Given the description of an element on the screen output the (x, y) to click on. 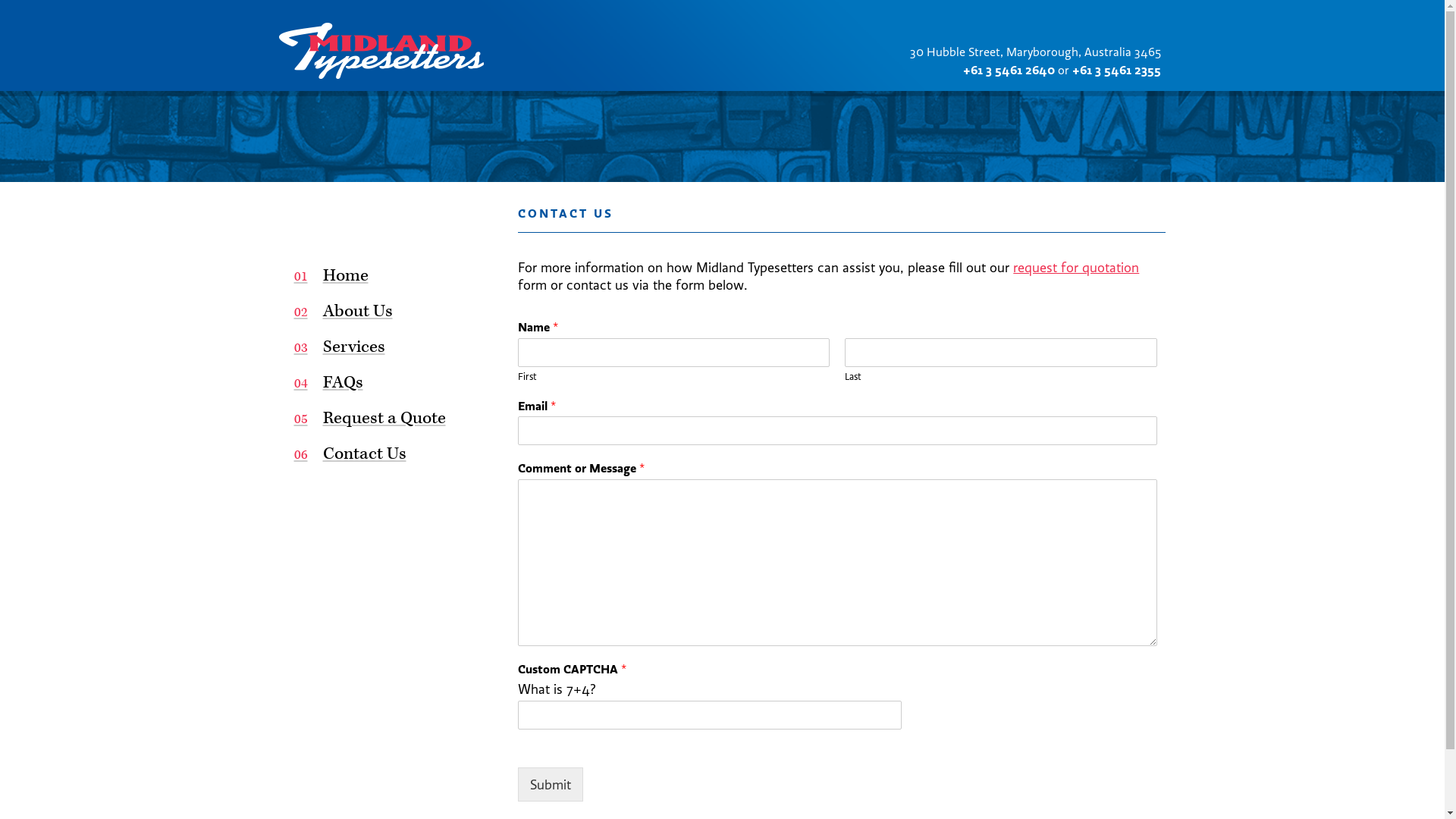
Request a Quote Element type: text (385, 418)
Home Element type: text (385, 276)
+61 3 5461 2355 Element type: text (1116, 69)
Submit Element type: text (550, 784)
FAQs Element type: text (385, 383)
About Us Element type: text (385, 311)
Services Element type: text (385, 347)
Contact Us Element type: text (385, 454)
+61 3 5461 2640 Element type: text (1008, 69)
request for quotation Element type: text (1076, 267)
